Given the description of an element on the screen output the (x, y) to click on. 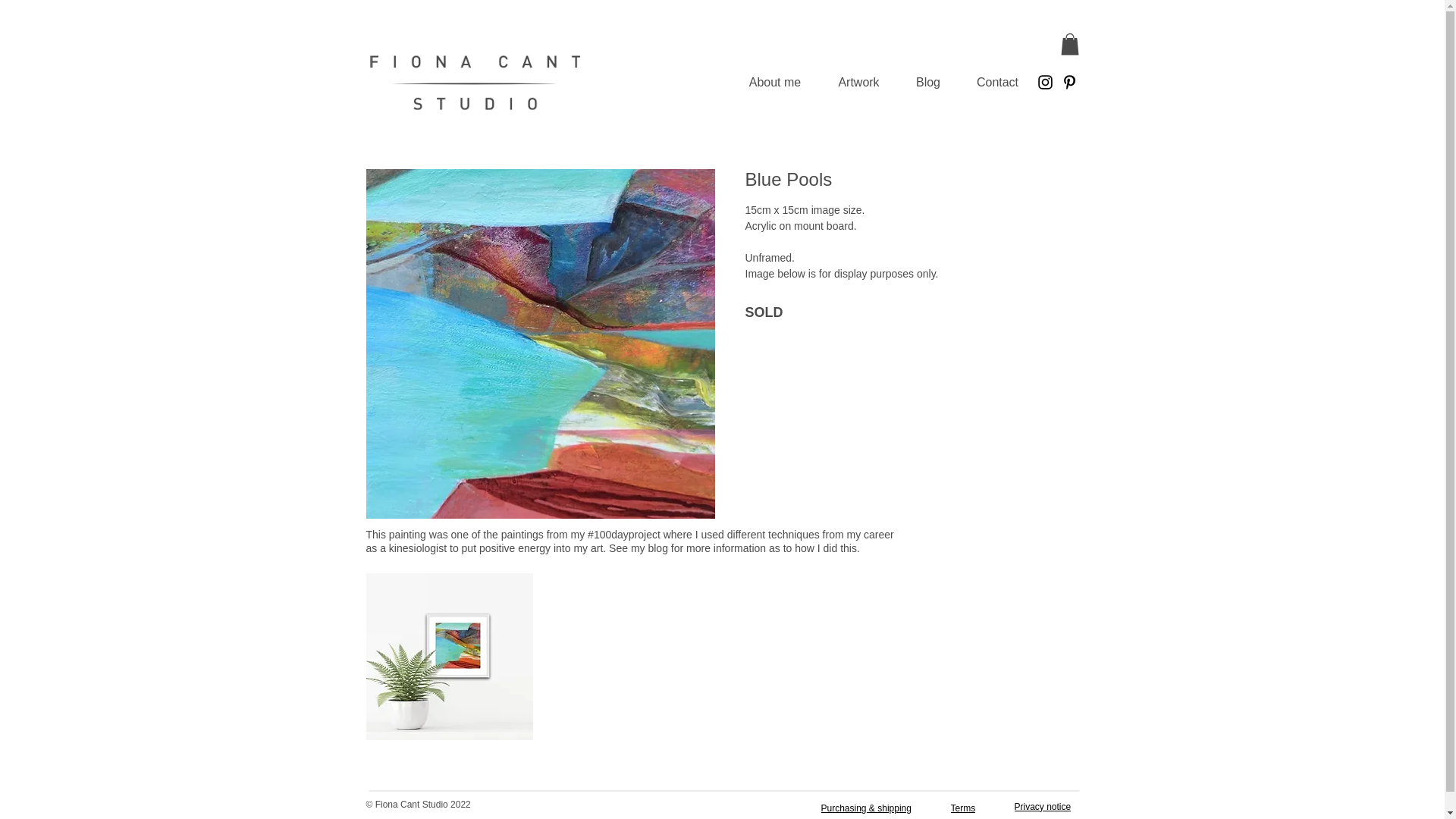
Terms (967, 807)
Blog (928, 82)
Privacy notice (1046, 806)
1612393141914.png (448, 656)
Fiona Cant Studio (474, 81)
About me (774, 82)
Contact (996, 82)
